Given the description of an element on the screen output the (x, y) to click on. 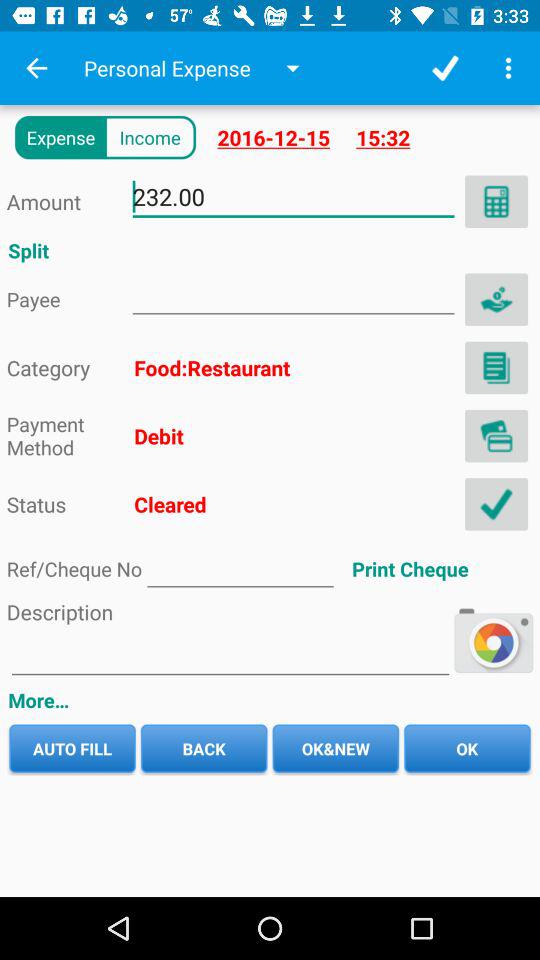
atress page (293, 294)
